Given the description of an element on the screen output the (x, y) to click on. 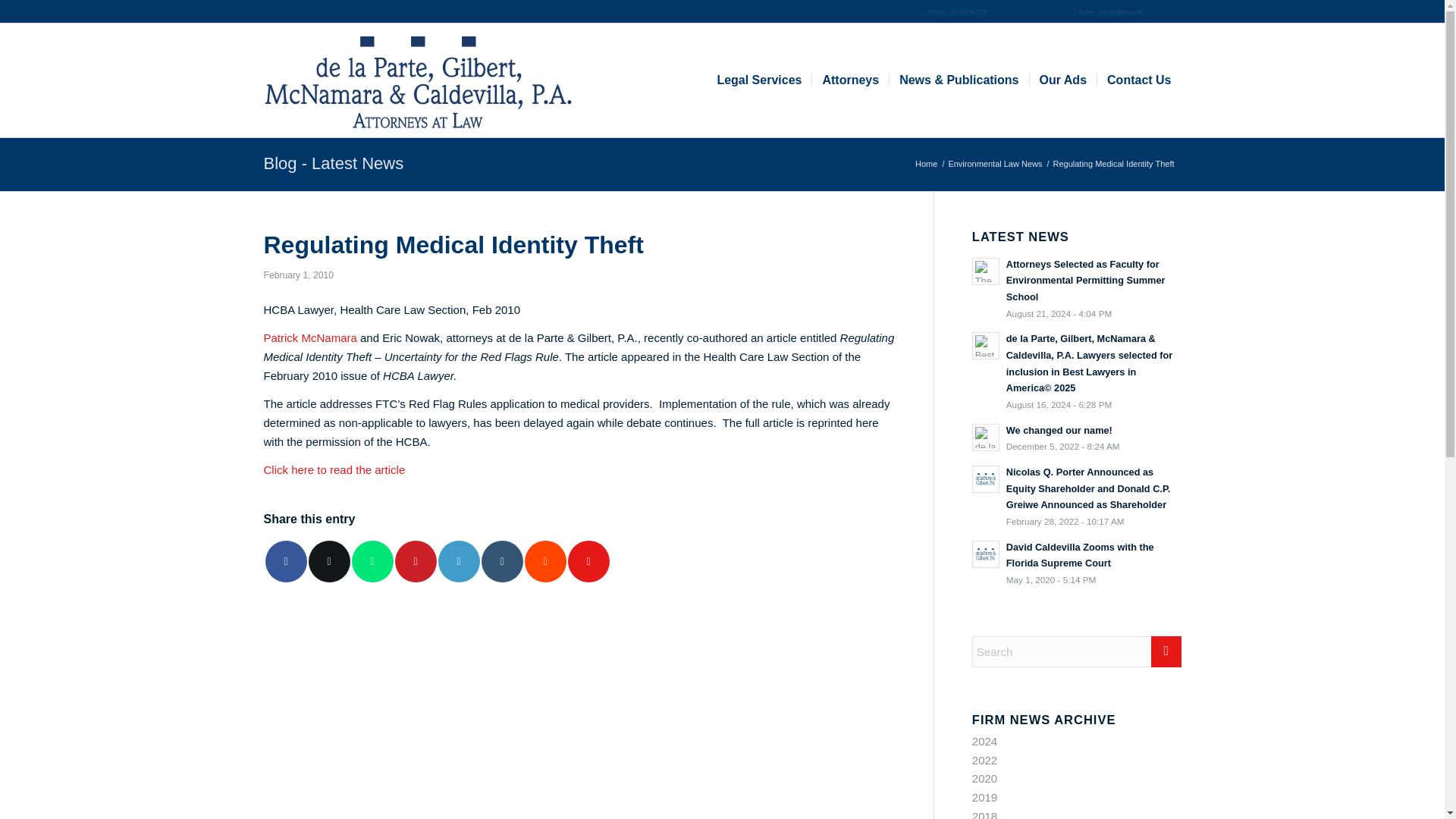
Patrick McNamara (309, 337)
2020 (984, 778)
Environmental Law News (993, 163)
Click here to read the article (334, 469)
2022 (984, 759)
Home (925, 163)
Permanent Link: Blog - Latest News (333, 162)
Blog - Latest News (333, 162)
2018 (984, 814)
2024 (984, 740)
